Given the description of an element on the screen output the (x, y) to click on. 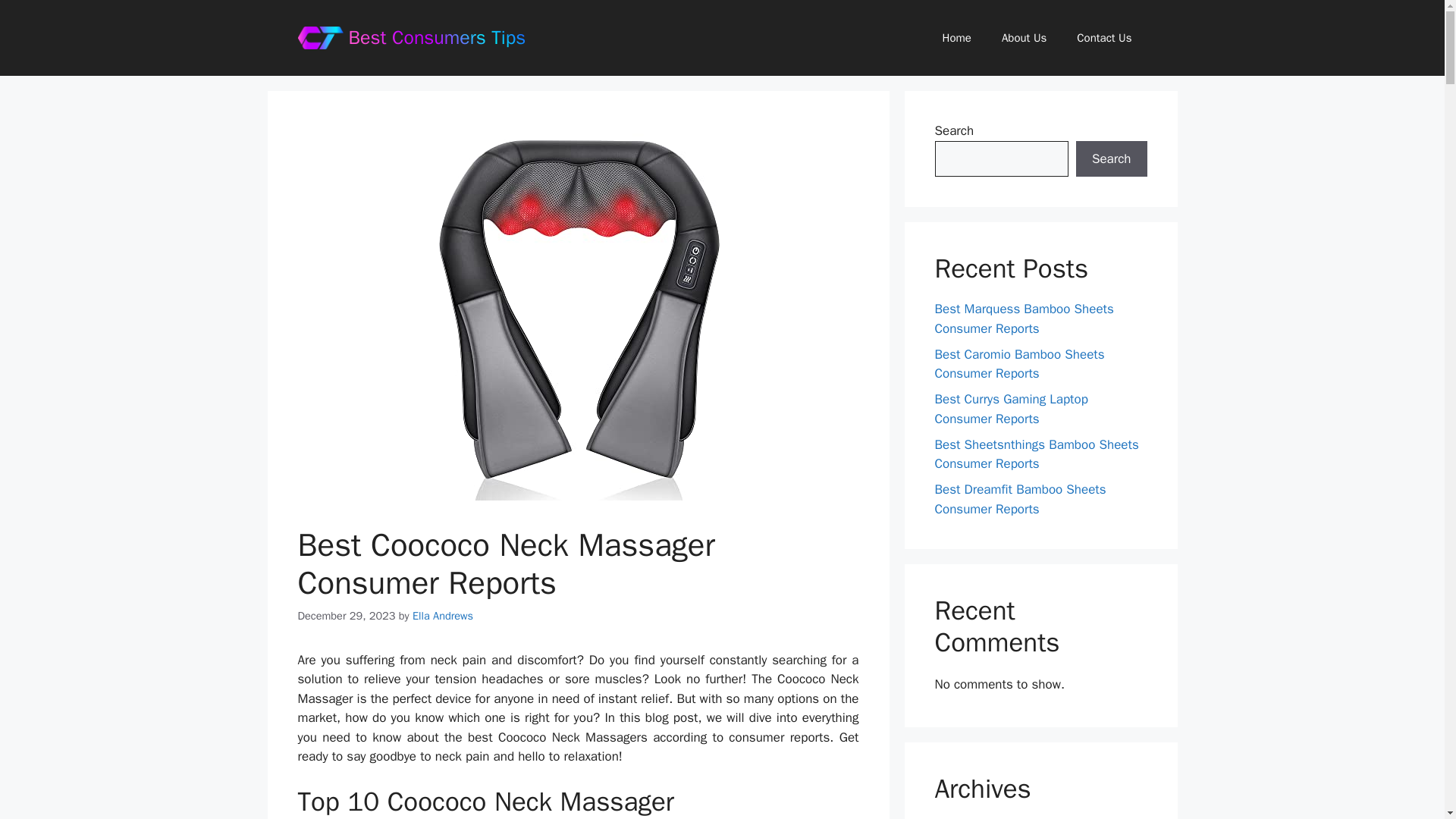
Contact Us (1104, 37)
Ella Andrews (442, 615)
Home (957, 37)
About Us (1024, 37)
Best Consumers Tips (437, 37)
View all posts by Ella Andrews (442, 615)
